Given the description of an element on the screen output the (x, y) to click on. 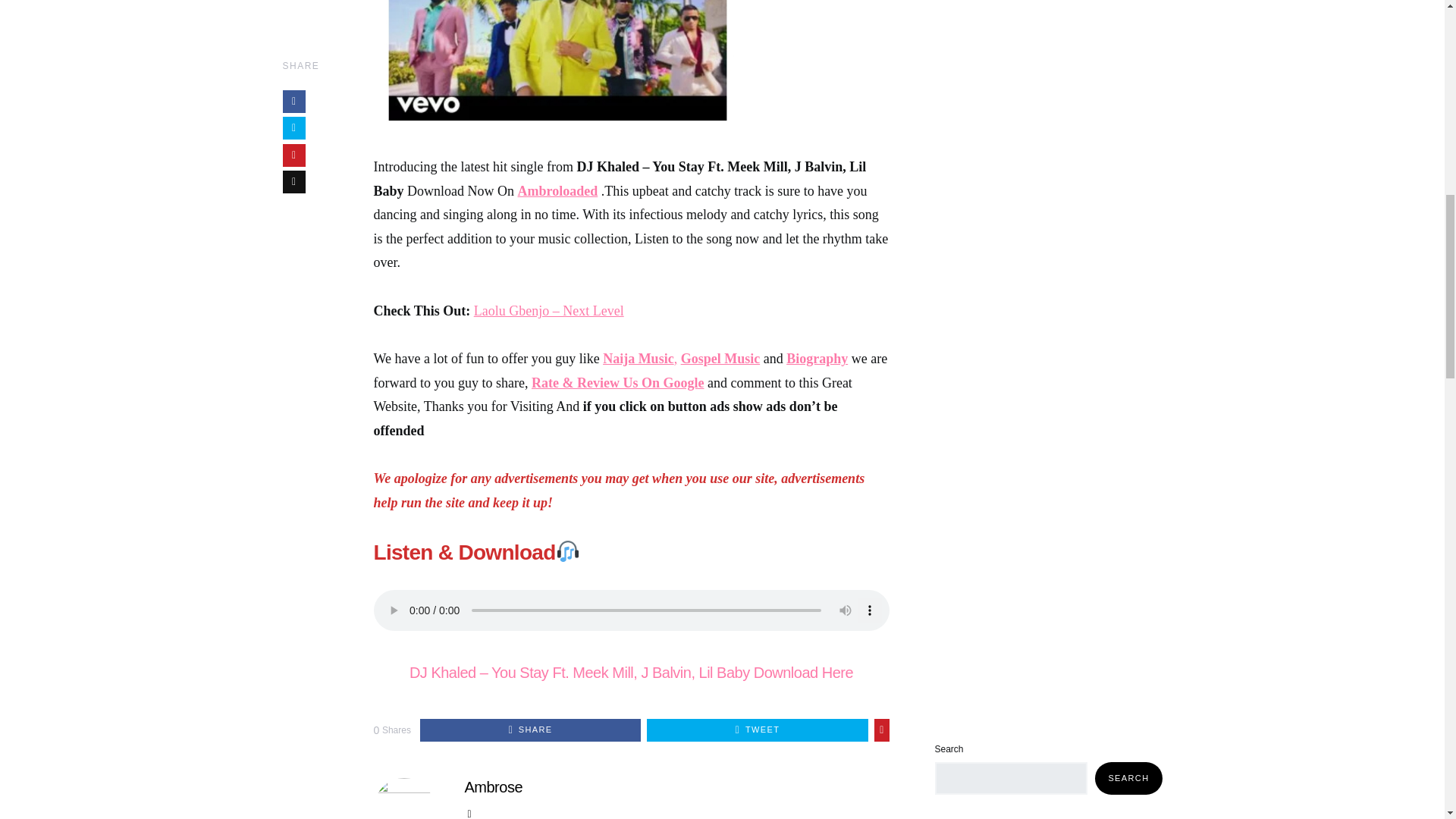
TWEET (756, 730)
Biography (816, 358)
Ambrose (493, 786)
Naija Music, (639, 358)
Ambroloaded (558, 191)
Gospel Music (720, 358)
SHARE (530, 730)
